Given the description of an element on the screen output the (x, y) to click on. 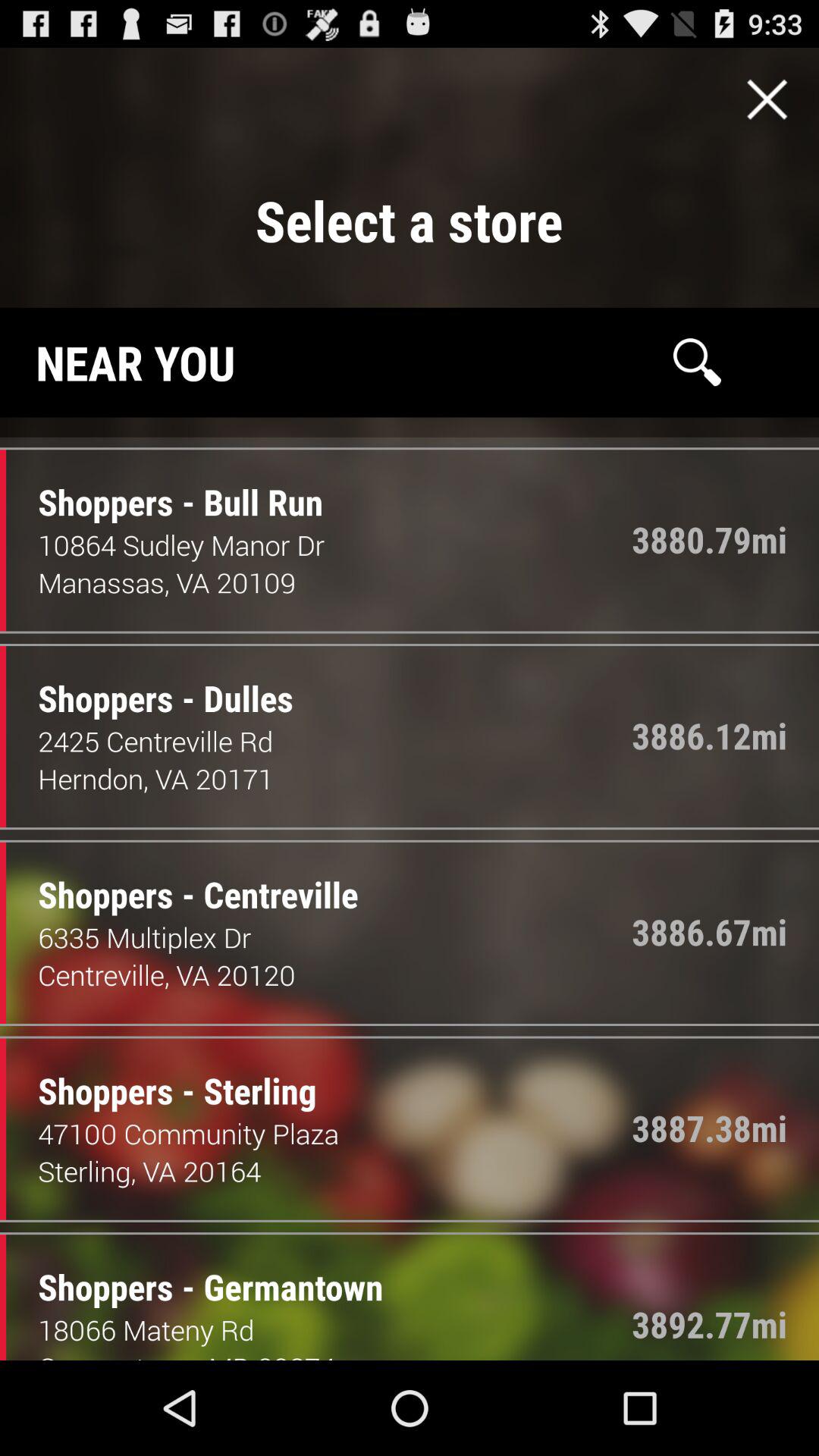
tap icon next to the 3886.12mi item (334, 740)
